Given the description of an element on the screen output the (x, y) to click on. 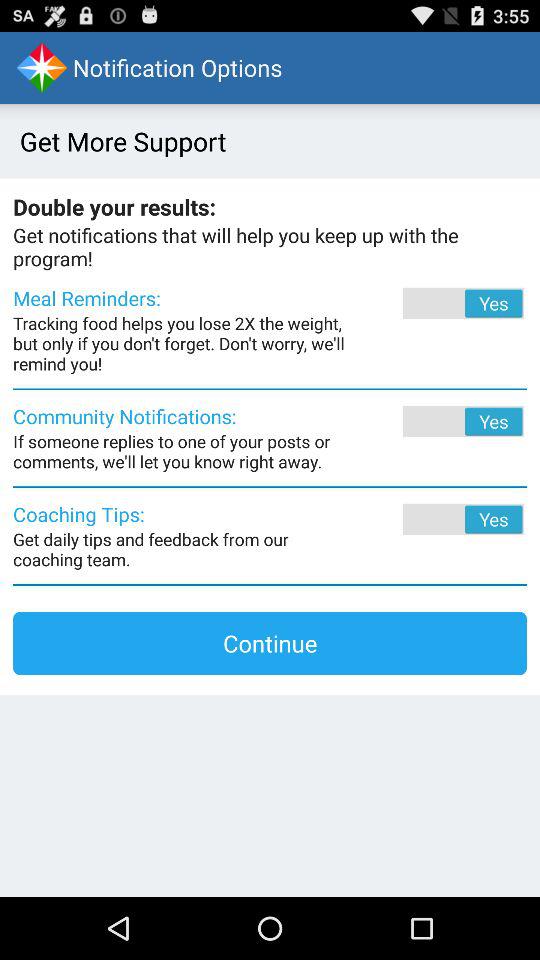
choose continue icon (269, 643)
